Given the description of an element on the screen output the (x, y) to click on. 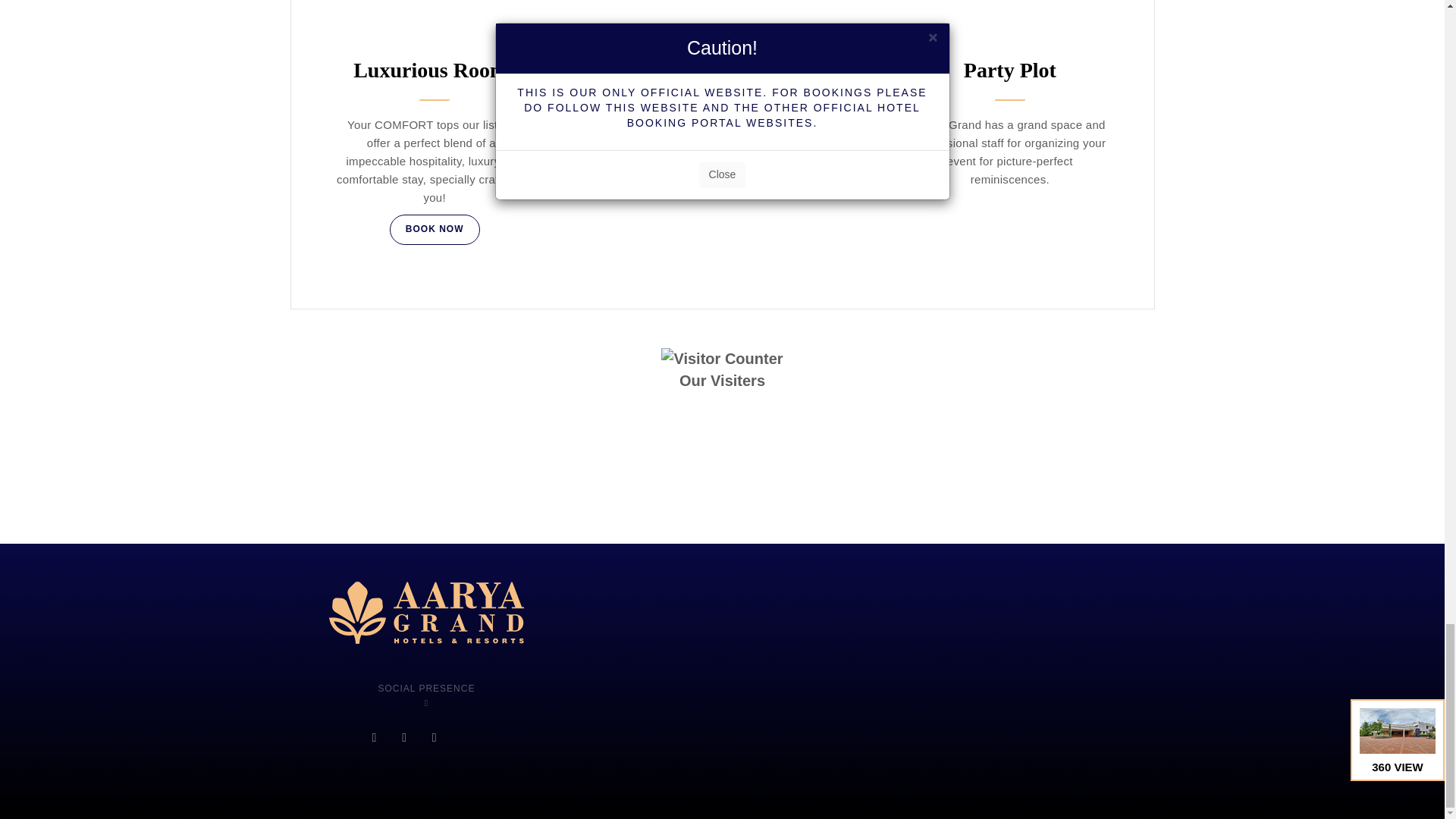
BOOK NOW (435, 229)
Our Visiters (722, 380)
